Given the description of an element on the screen output the (x, y) to click on. 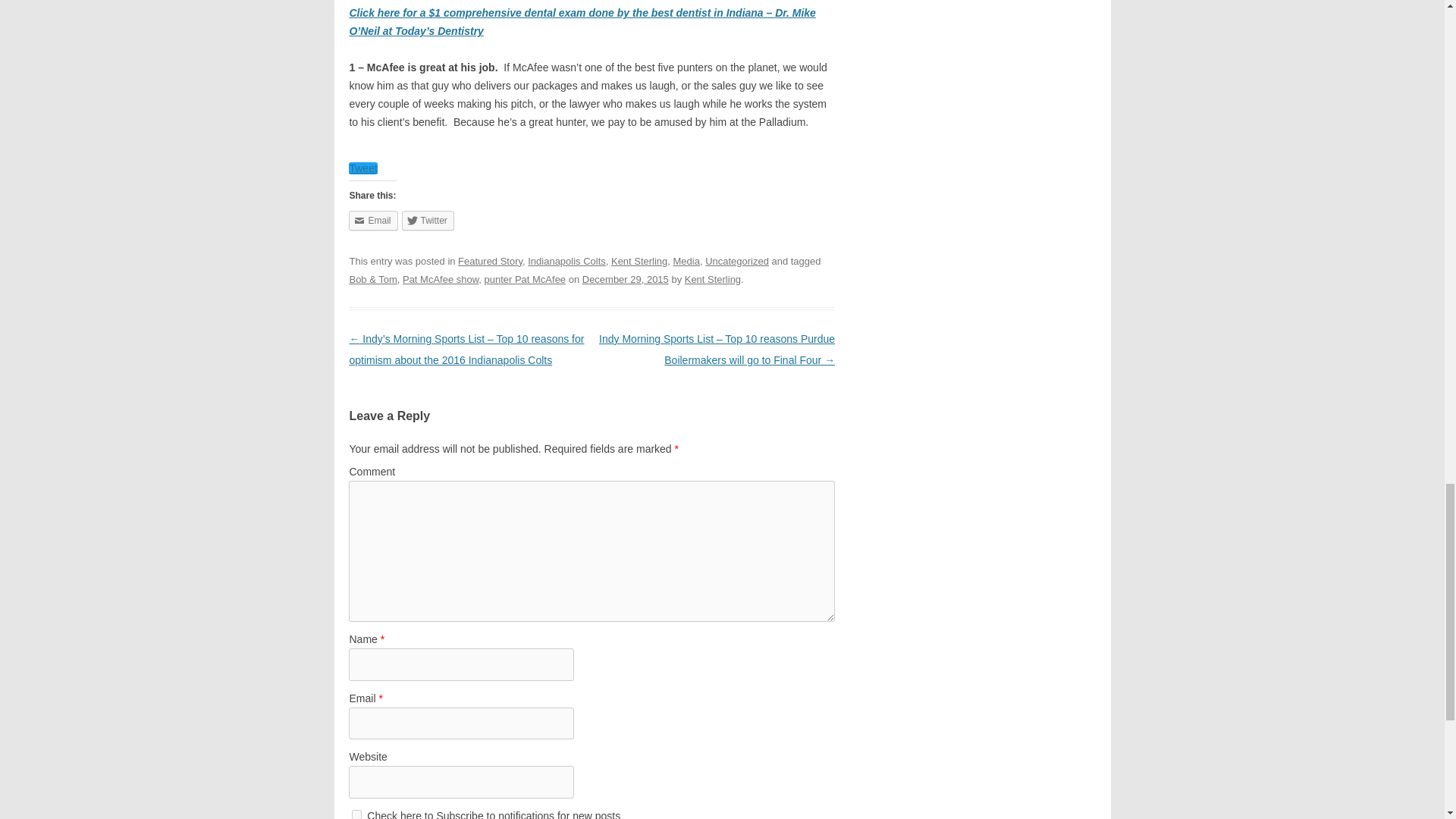
Tweet (363, 168)
Pat McAfee show (441, 279)
1 (356, 814)
Twitter (427, 220)
December 29, 2015 (625, 279)
Uncategorized (736, 260)
Click to email this to a friend (373, 220)
Kent Sterling (638, 260)
9:32 am (625, 279)
punter Pat McAfee (525, 279)
